Given the description of an element on the screen output the (x, y) to click on. 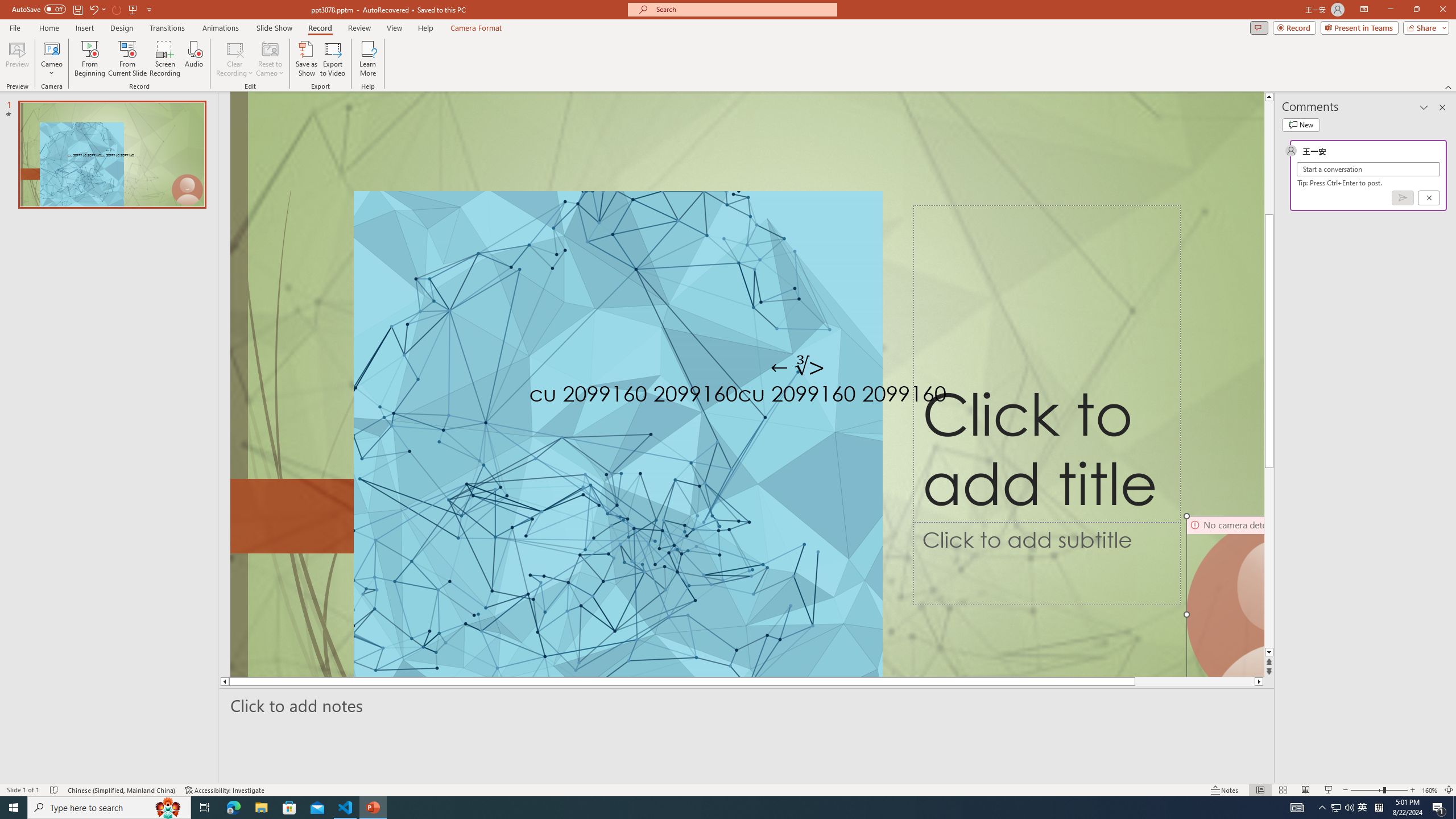
New comment (1300, 124)
An abstract genetic concept (746, 383)
